Given the description of an element on the screen output the (x, y) to click on. 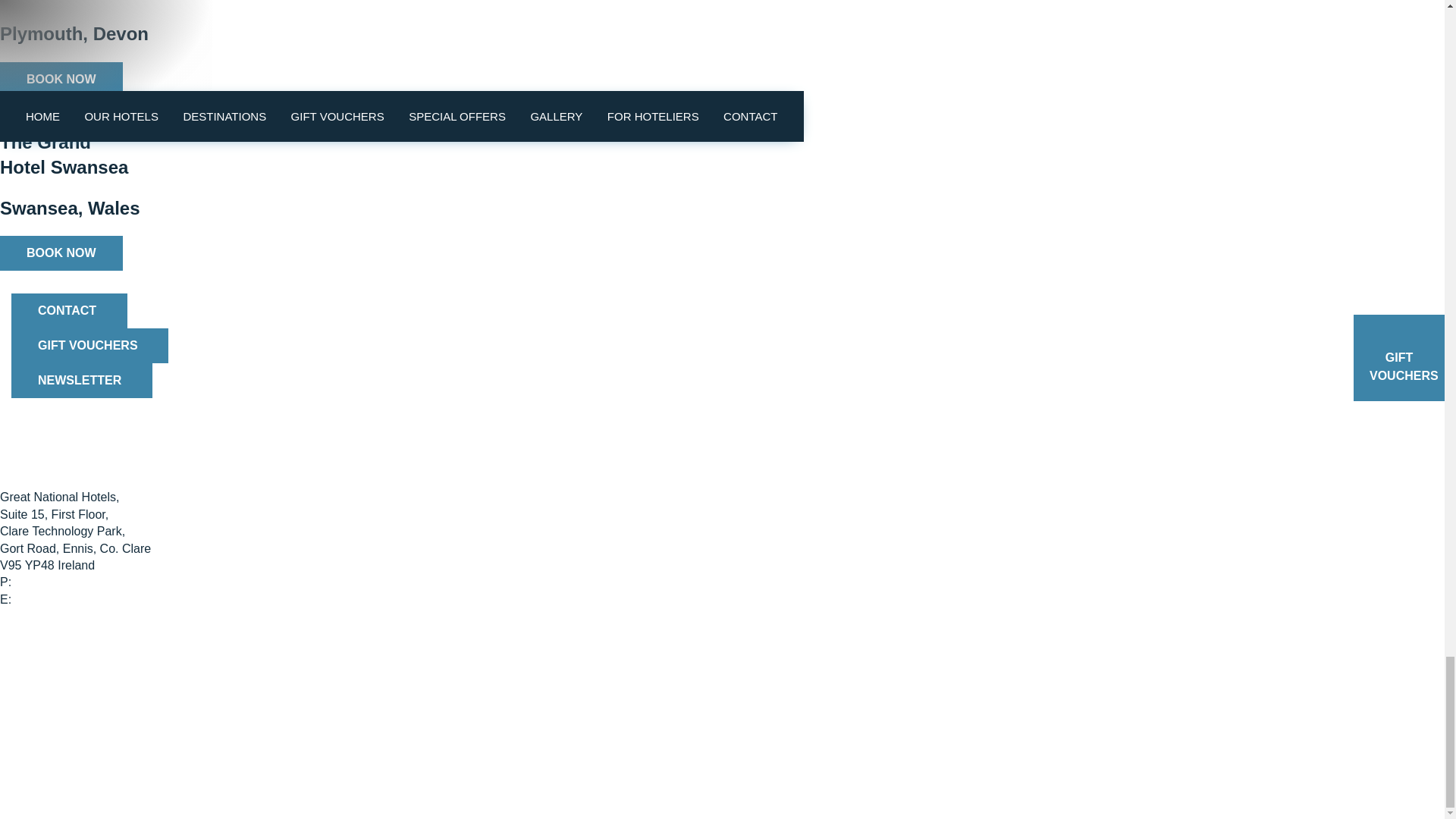
Contact Us by email (95, 599)
Contact Us by phone (72, 581)
Contact SHR Group (55, 615)
